Given the description of an element on the screen output the (x, y) to click on. 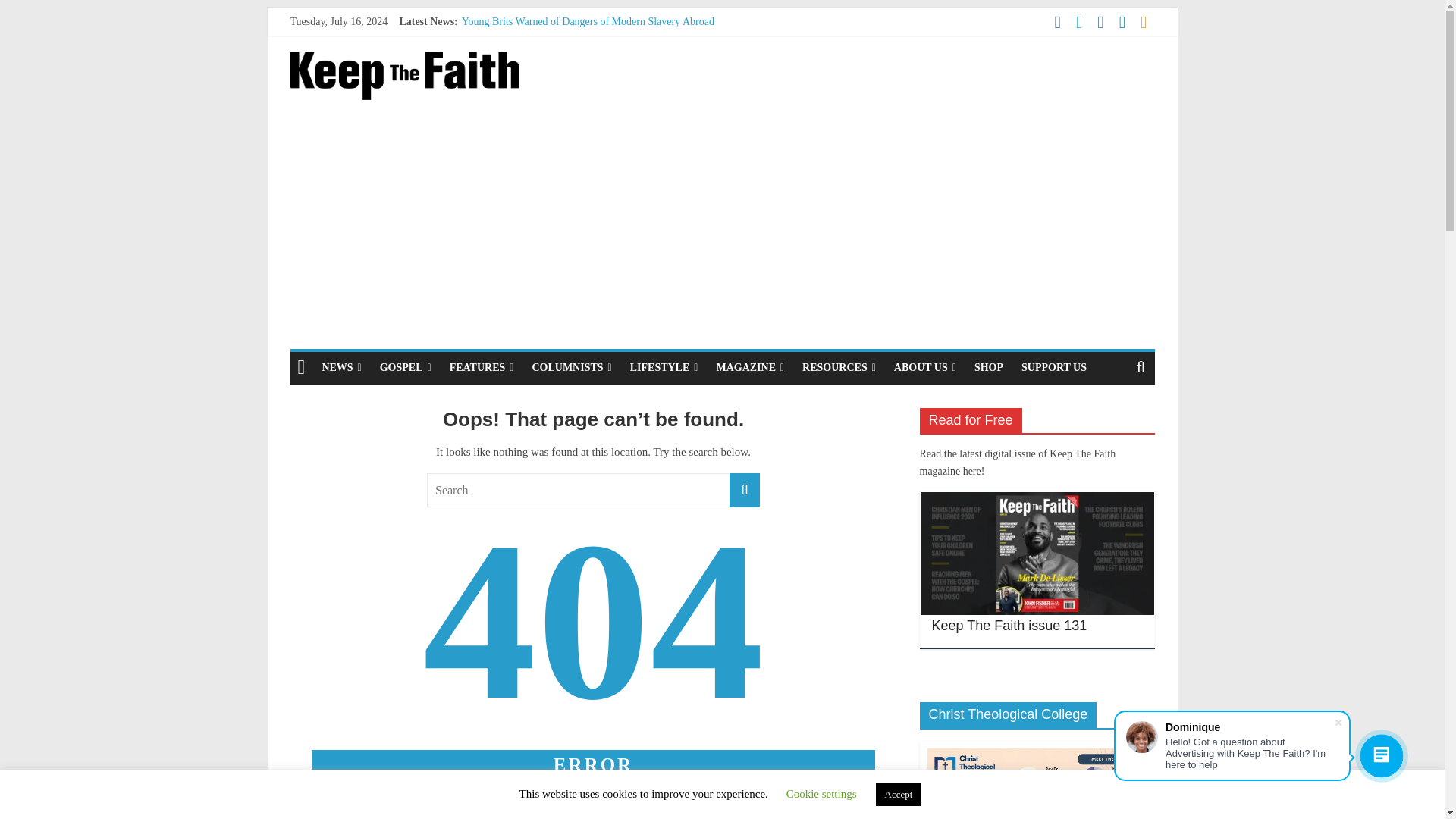
Keep The Faith issue 131 (1008, 625)
FEATURES (481, 368)
Young Brits Warned of Dangers of Modern Slavery Abroad (587, 21)
COLUMNISTS (571, 368)
GOSPEL (406, 368)
Young Brits Warned of Dangers of Modern Slavery Abroad (587, 21)
NEWS (341, 368)
